Given the description of an element on the screen output the (x, y) to click on. 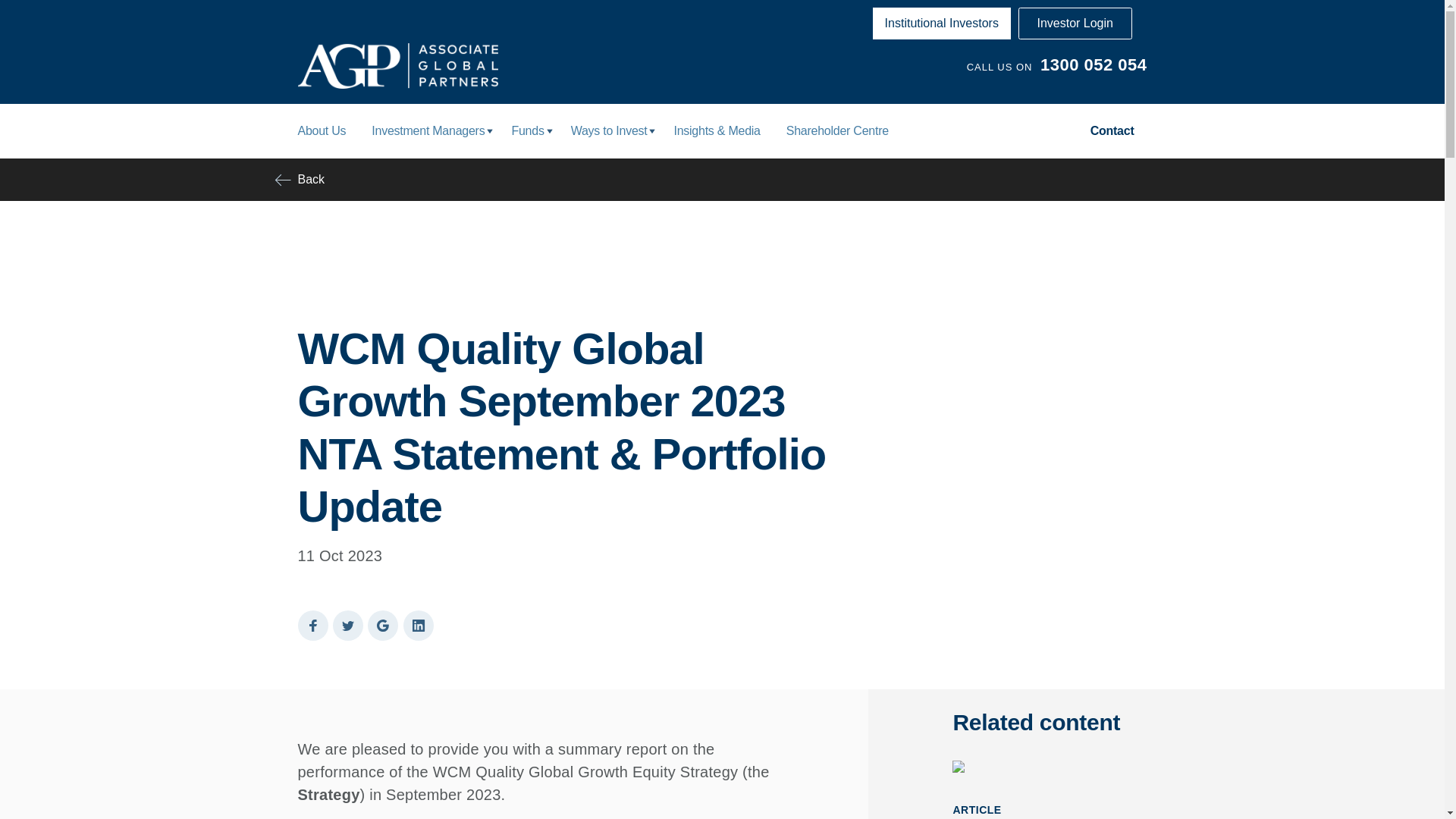
Contact (1112, 130)
Back (722, 179)
About Us (321, 130)
Investor Login (1075, 23)
Shareholder Centre (837, 130)
Funds (527, 130)
Investment Managers (427, 130)
1300 052 054 (1094, 64)
Ways to Invest (608, 130)
Institutional Investors (941, 23)
